Given the description of an element on the screen output the (x, y) to click on. 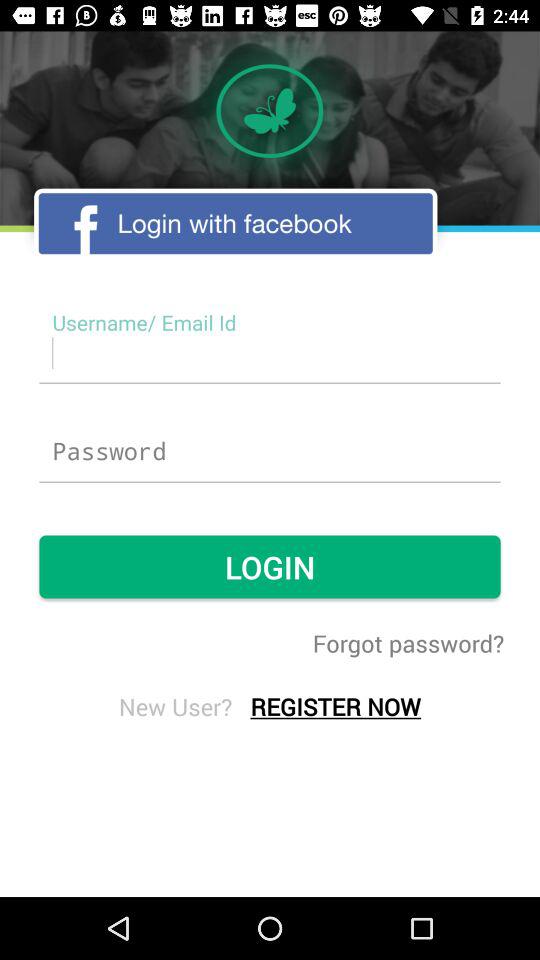
input user name and or email id (269, 352)
